Given the description of an element on the screen output the (x, y) to click on. 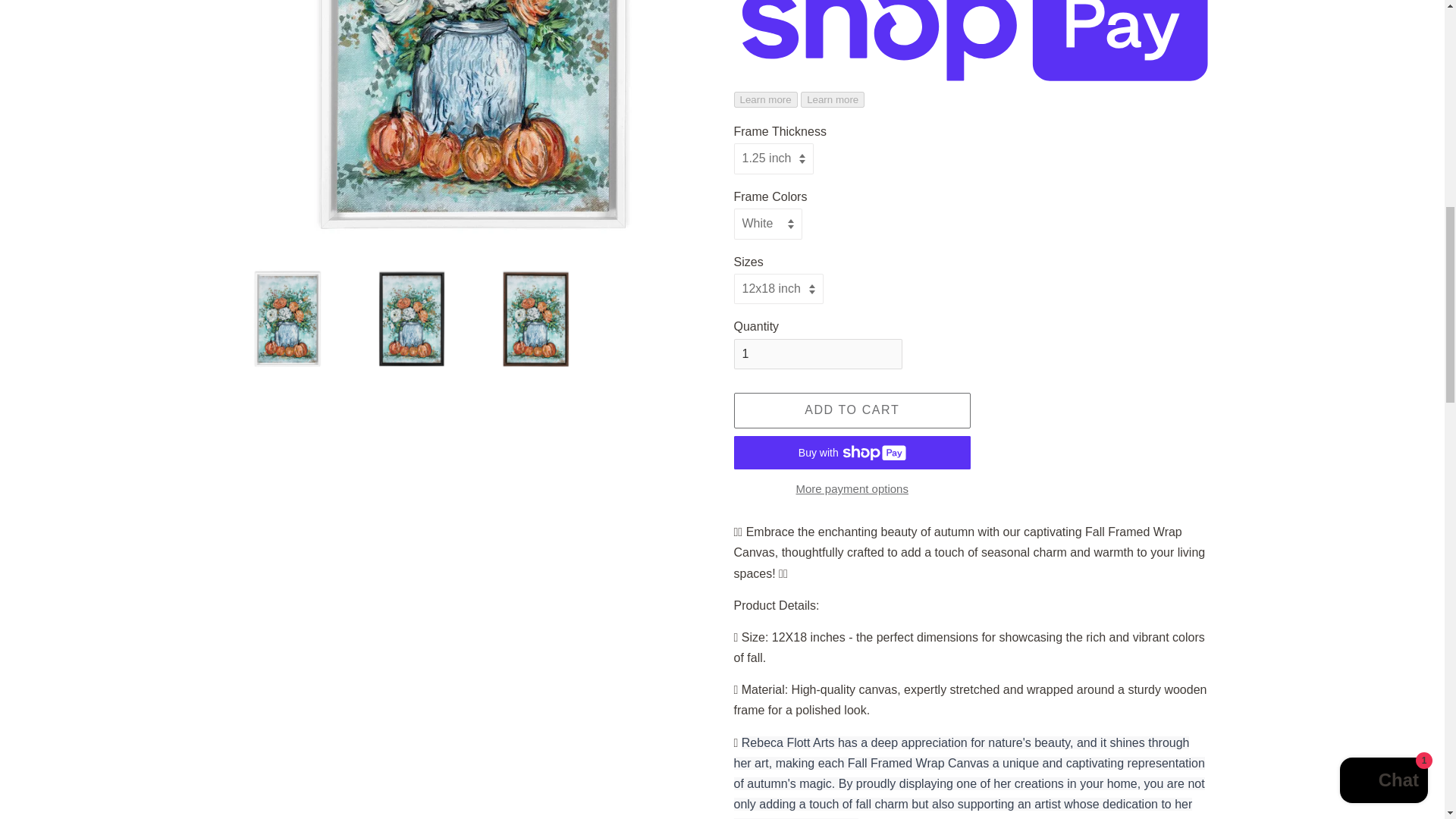
1 (817, 354)
